Given the description of an element on the screen output the (x, y) to click on. 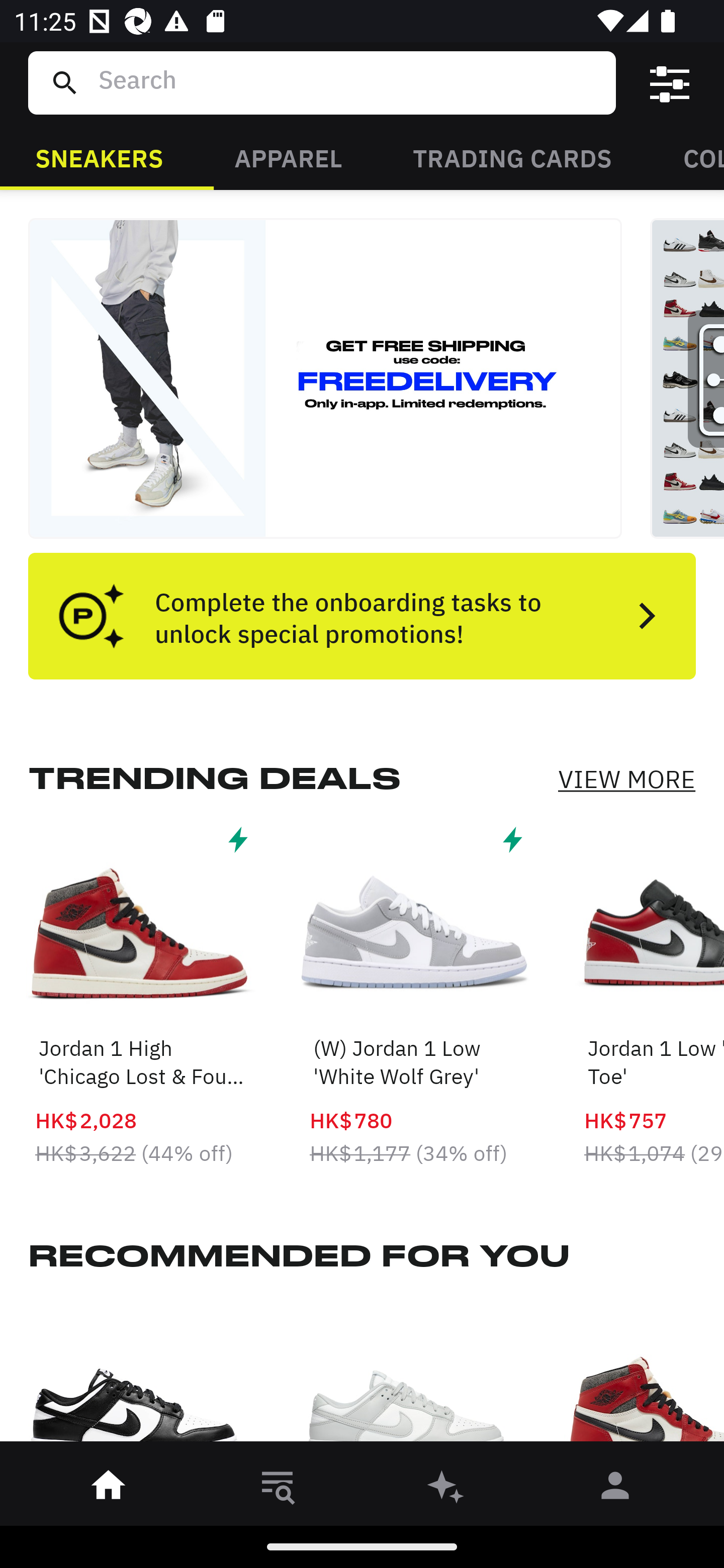
Search (349, 82)
 (669, 82)
SNEAKERS (99, 156)
APPAREL (287, 156)
TRADING CARDS (512, 156)
VIEW MORE (626, 779)
󰋜 (108, 1488)
󱎸 (277, 1488)
󰫢 (446, 1488)
󰀄 (615, 1488)
